Given the description of an element on the screen output the (x, y) to click on. 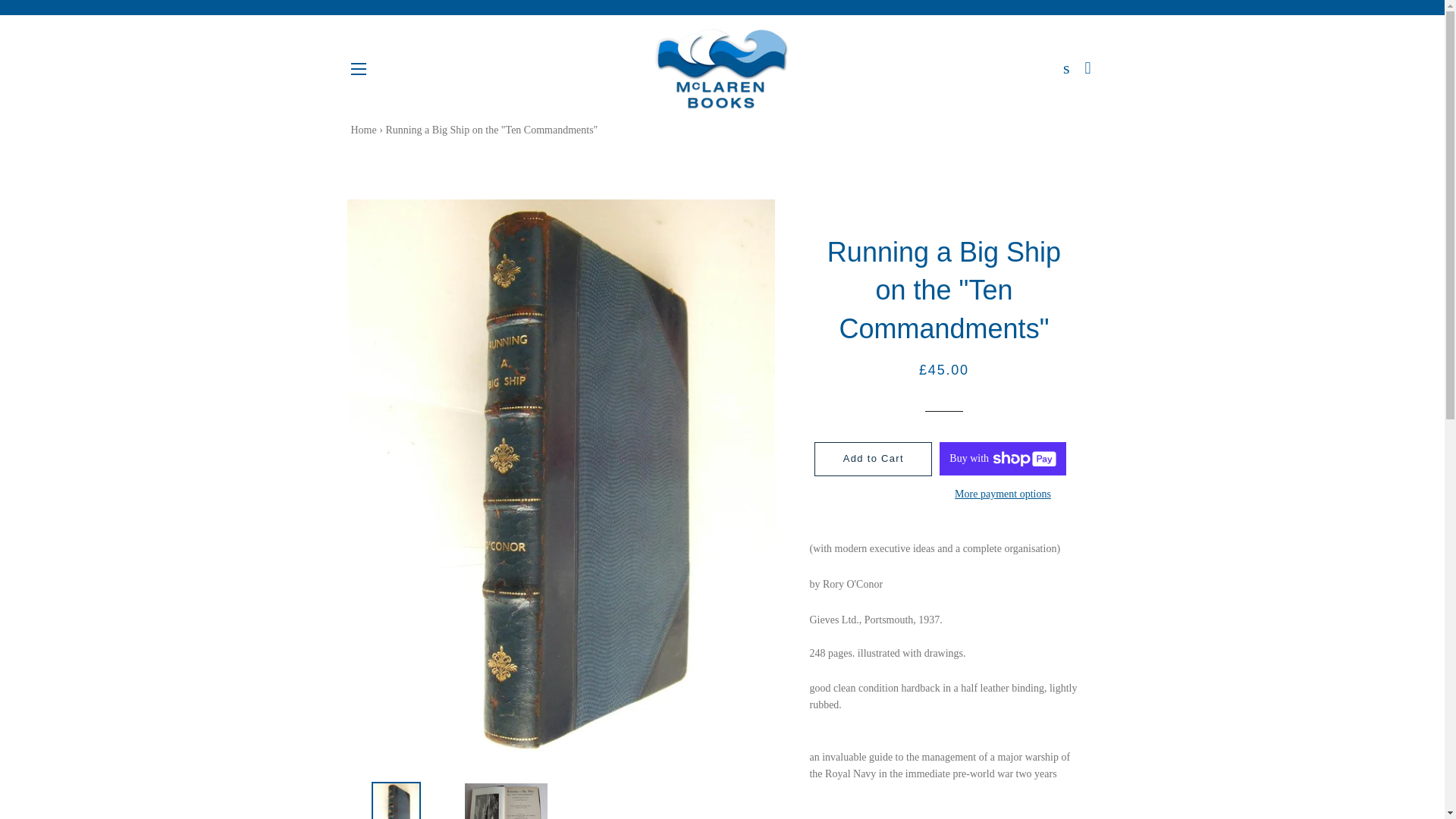
Tweet on Twitter (944, 816)
Share on Facebook (891, 816)
Home (362, 129)
Pin on Pinterest (995, 816)
